Given the description of an element on the screen output the (x, y) to click on. 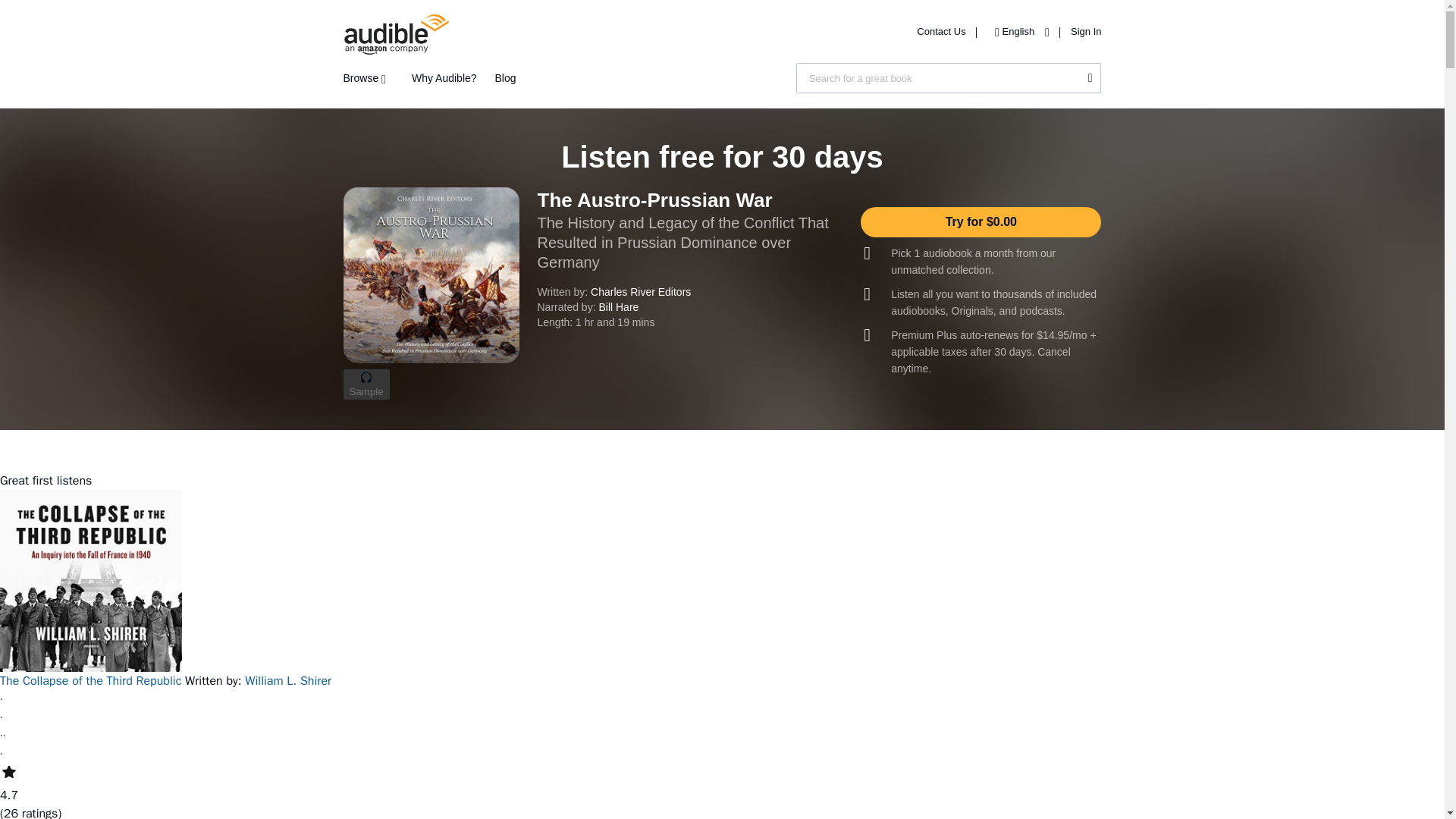
Bill Hare (618, 306)
Blog (505, 78)
Charles River Editors (640, 291)
Browse (367, 78)
Why Audible? (444, 78)
Sign In (1085, 30)
Contact Us (942, 30)
English (1018, 30)
